Given the description of an element on the screen output the (x, y) to click on. 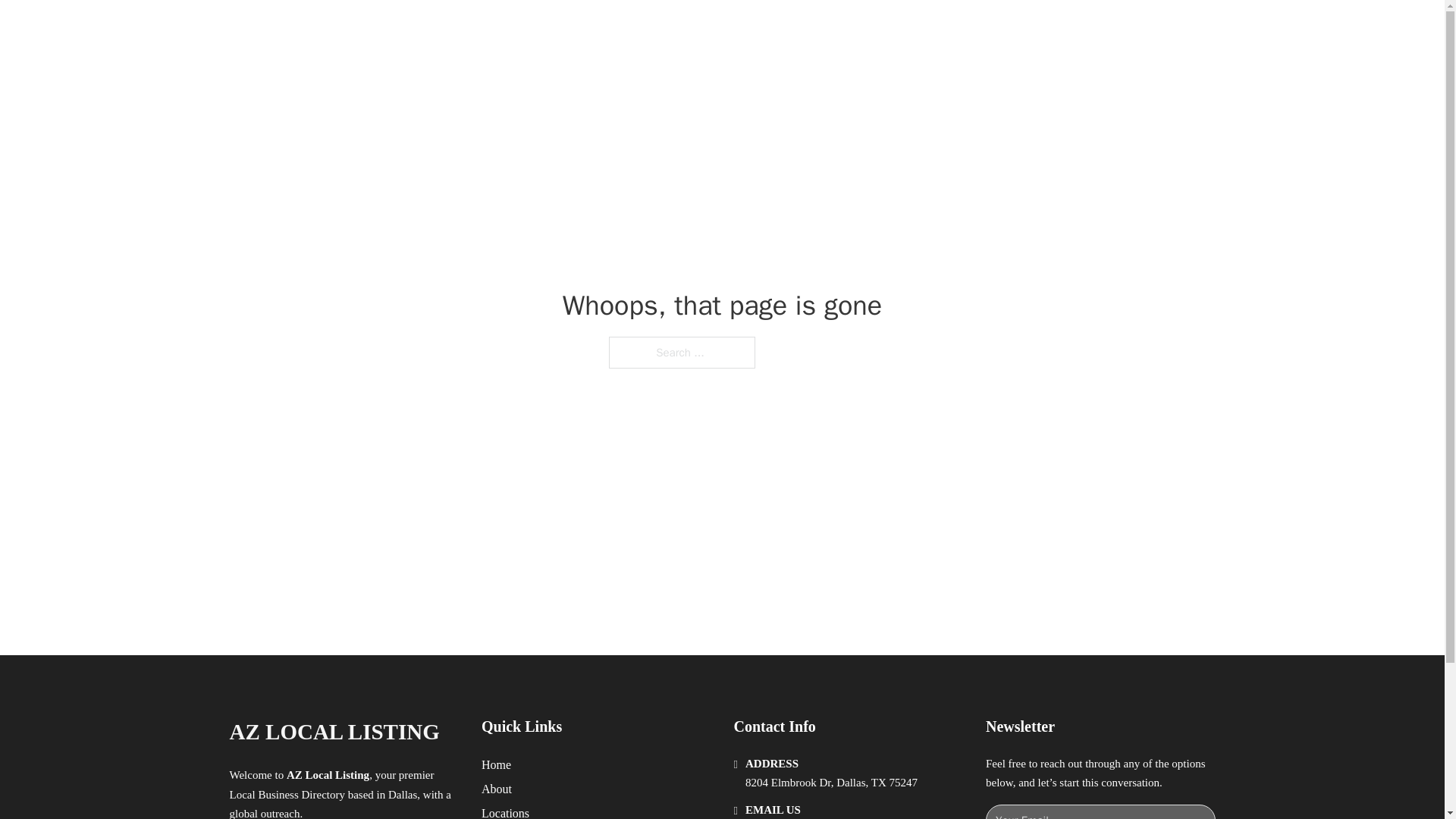
Home (496, 764)
LOCATIONS (990, 29)
AZ LOCAL LISTING (401, 28)
Locations (505, 811)
About (496, 788)
AZ LOCAL LISTING (333, 732)
HOME (919, 29)
